Given the description of an element on the screen output the (x, y) to click on. 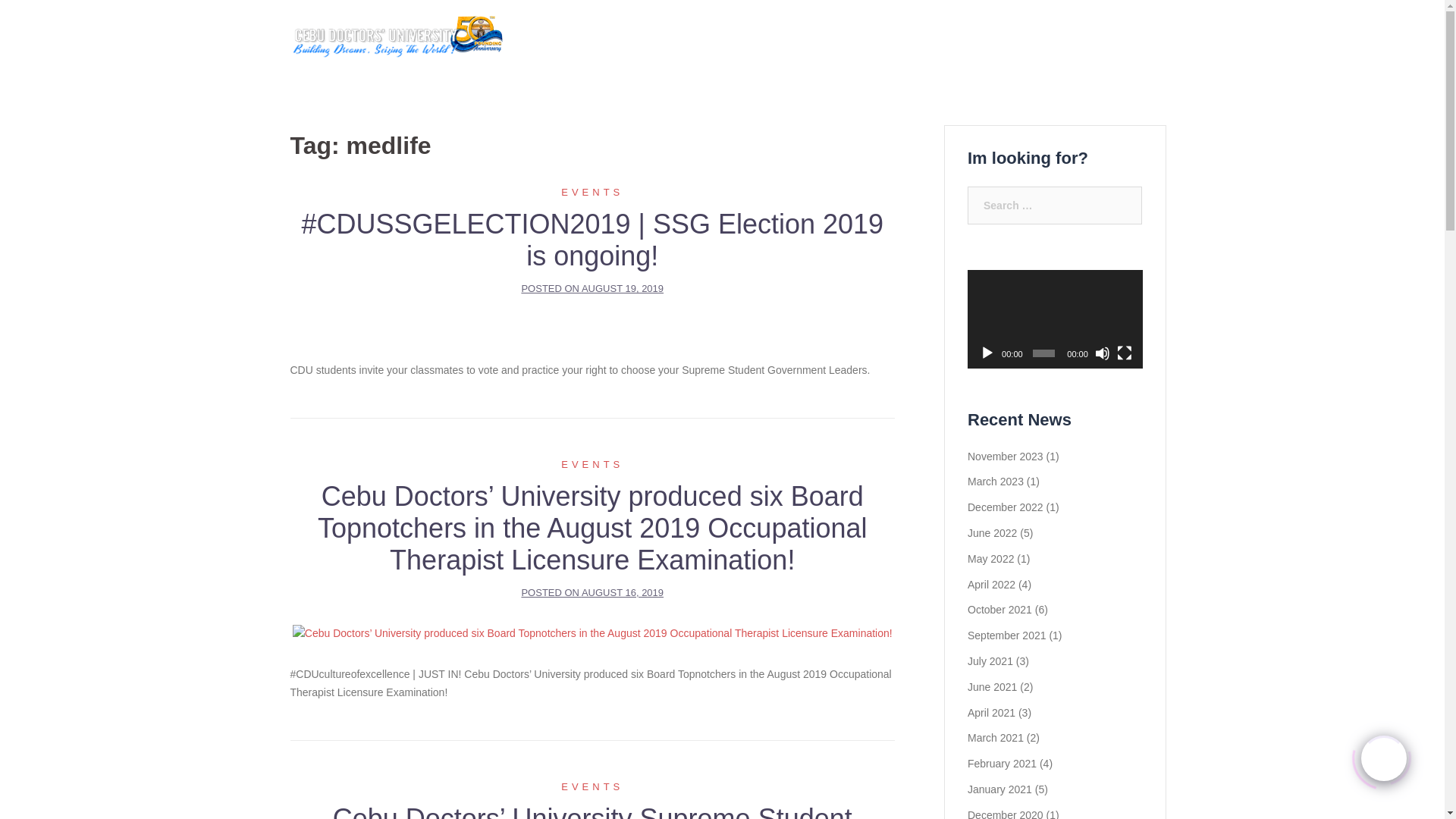
Events (591, 786)
Academics (736, 41)
Cebu Doctors' University (395, 40)
Events (591, 464)
Admissions (812, 41)
Events (591, 192)
About CDU (663, 41)
